Given the description of an element on the screen output the (x, y) to click on. 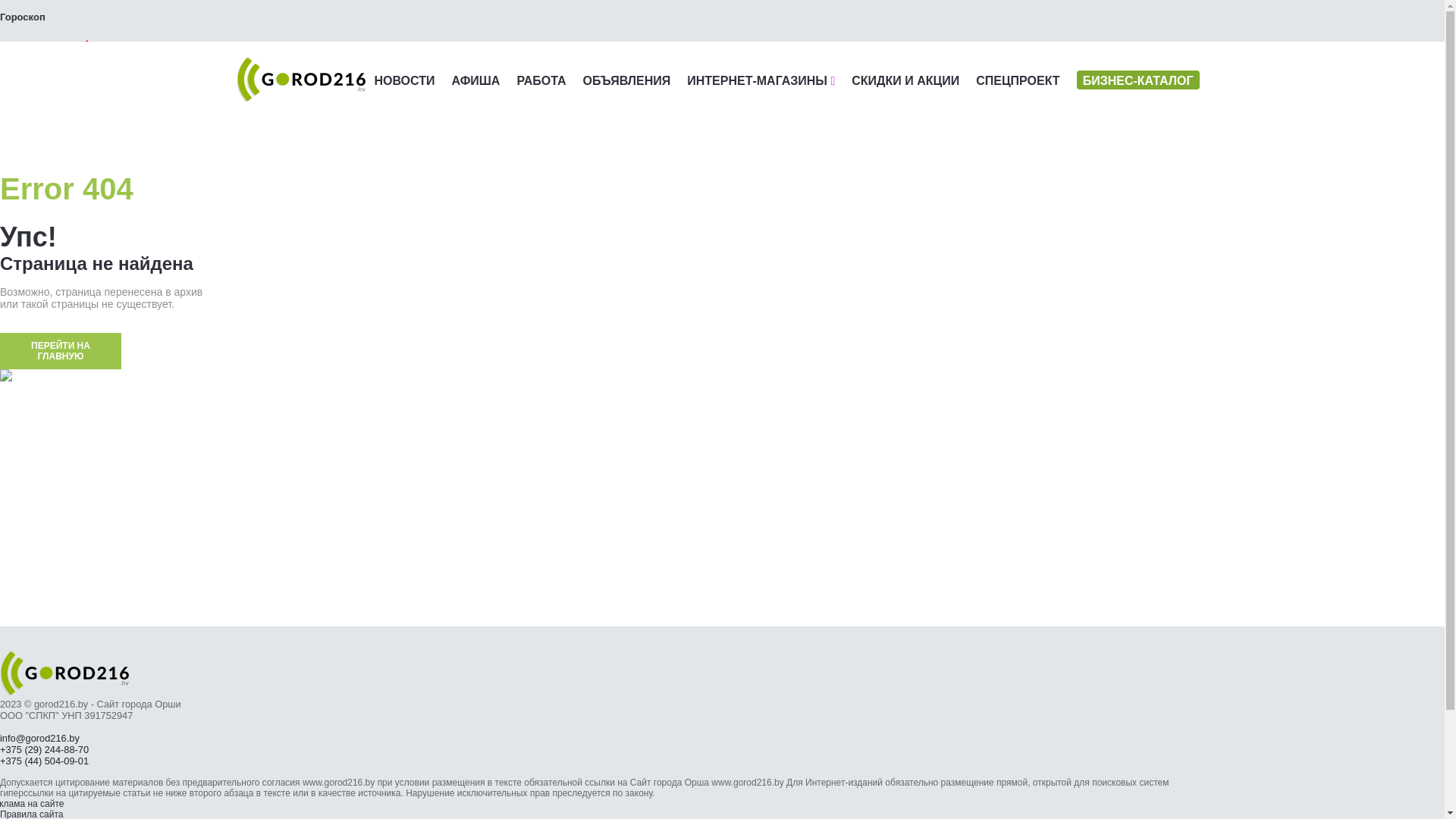
   Element type: text (49, 50)
